Given the description of an element on the screen output the (x, y) to click on. 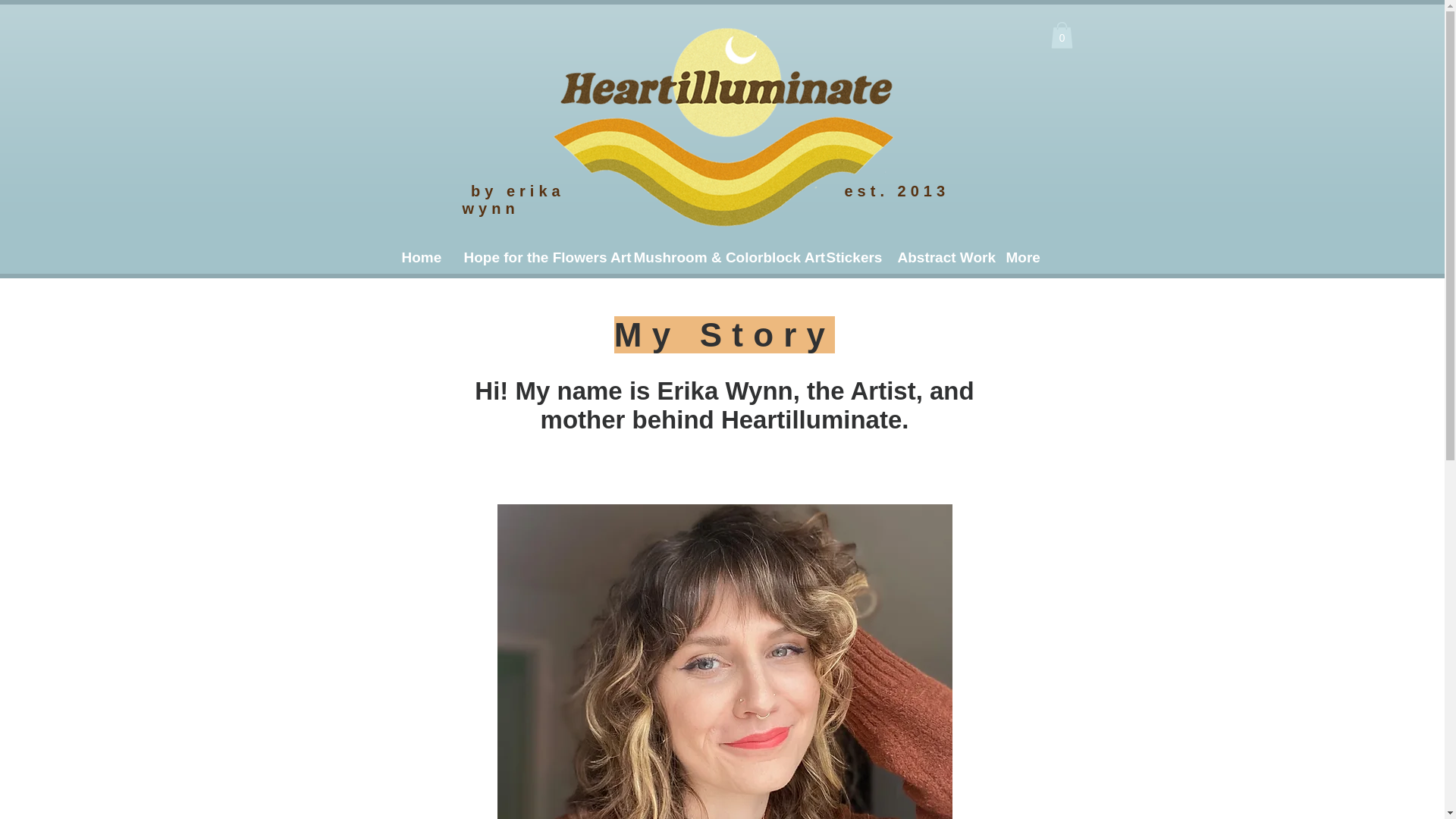
Stickers (849, 257)
Embedded Content (416, 80)
Abstract Work (939, 257)
Home (420, 257)
Hope for the Flowers Art (536, 257)
